Given the description of an element on the screen output the (x, y) to click on. 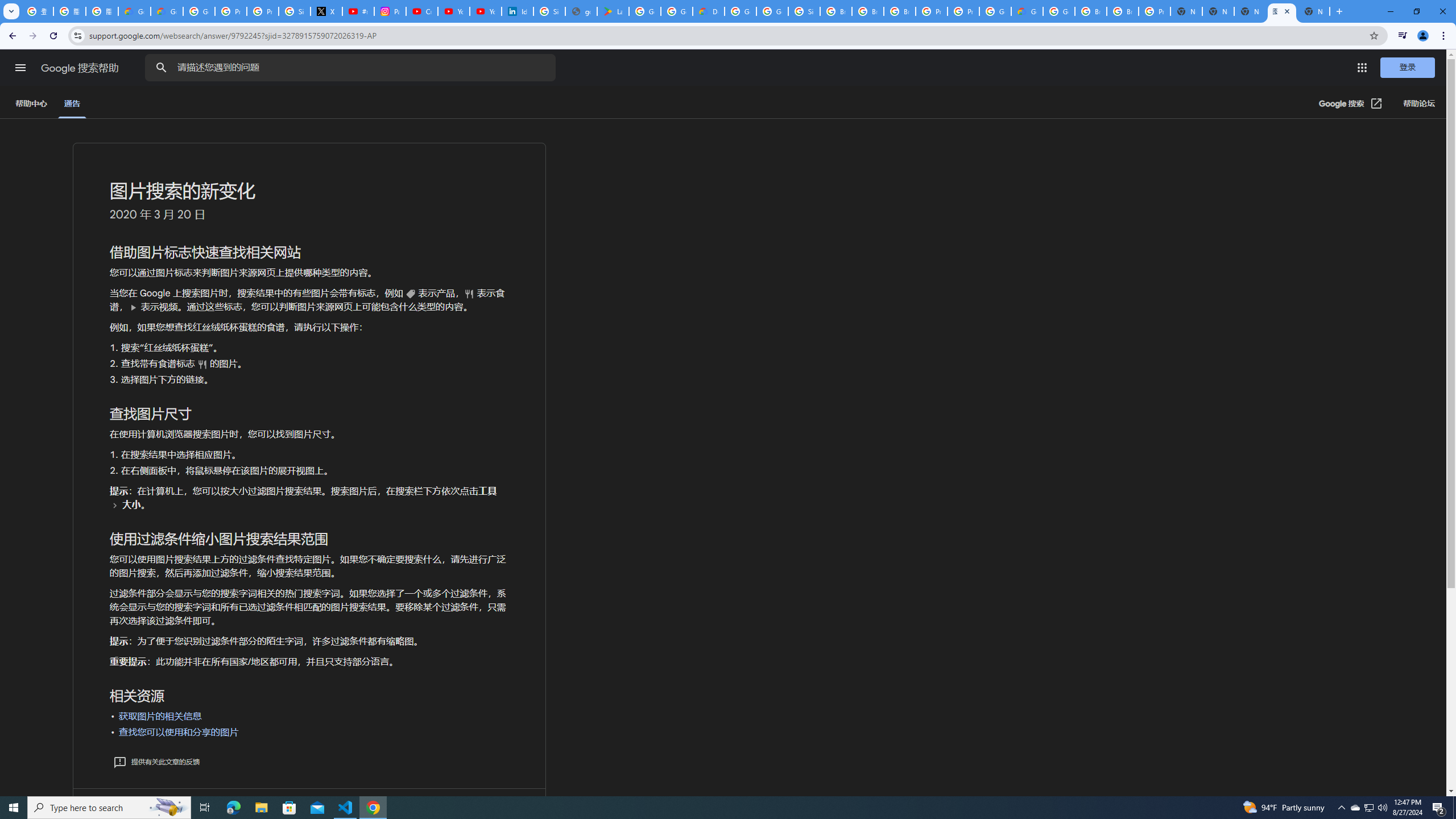
Google Cloud Platform (995, 11)
Browse Chrome as a guest - Computer - Google Chrome Help (836, 11)
Sign in - Google Accounts (294, 11)
Google Cloud Privacy Notice (134, 11)
X (326, 11)
Sign in - Google Accounts (804, 11)
Last Shelter: Survival - Apps on Google Play (613, 11)
